Given the description of an element on the screen output the (x, y) to click on. 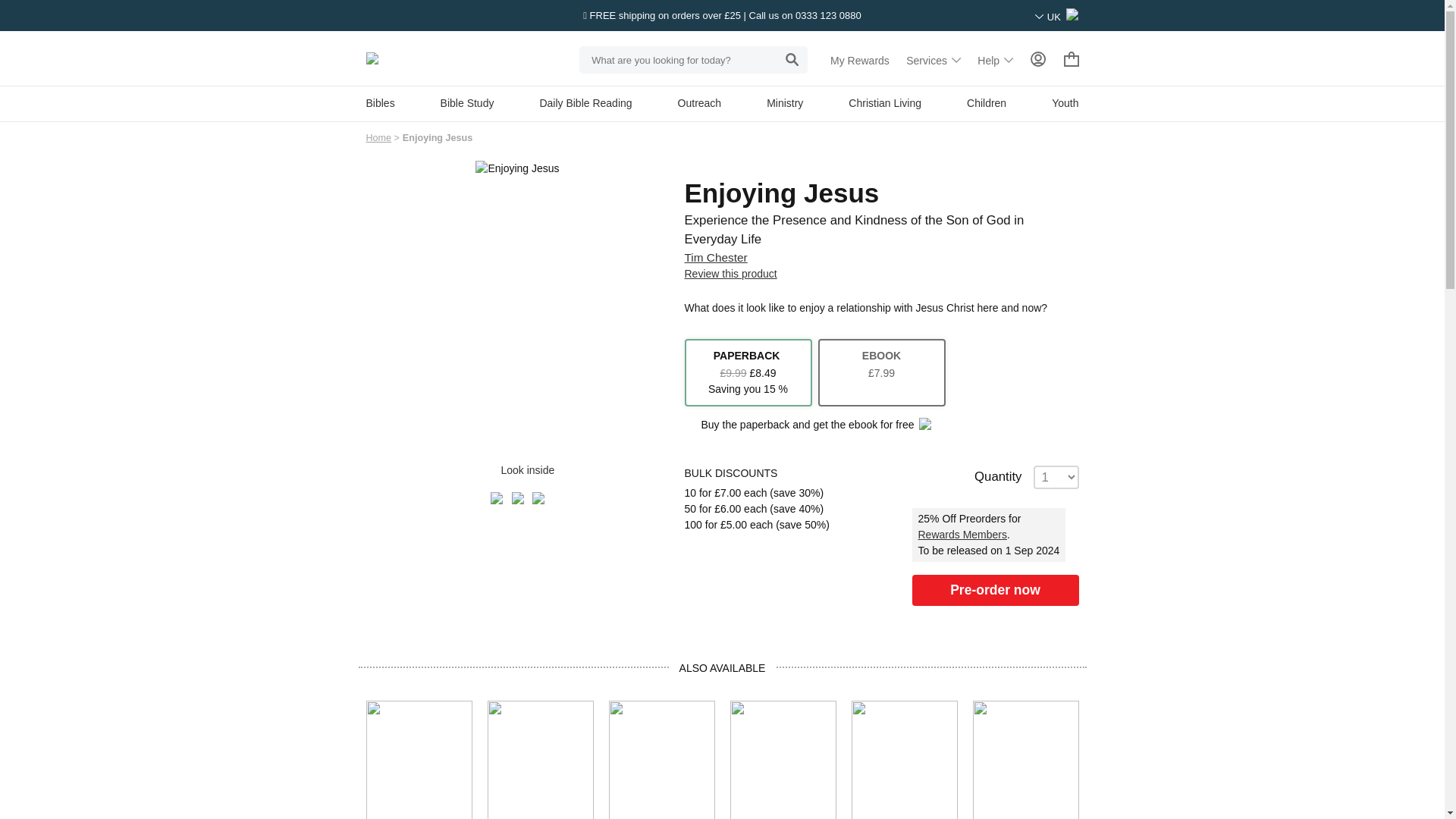
My Rewards (859, 60)
Bibles (379, 102)
Sign in (1037, 58)
UK (1056, 16)
Sign in (1037, 60)
Go to Home Page (378, 137)
Services (932, 60)
Help (994, 60)
